Given the description of an element on the screen output the (x, y) to click on. 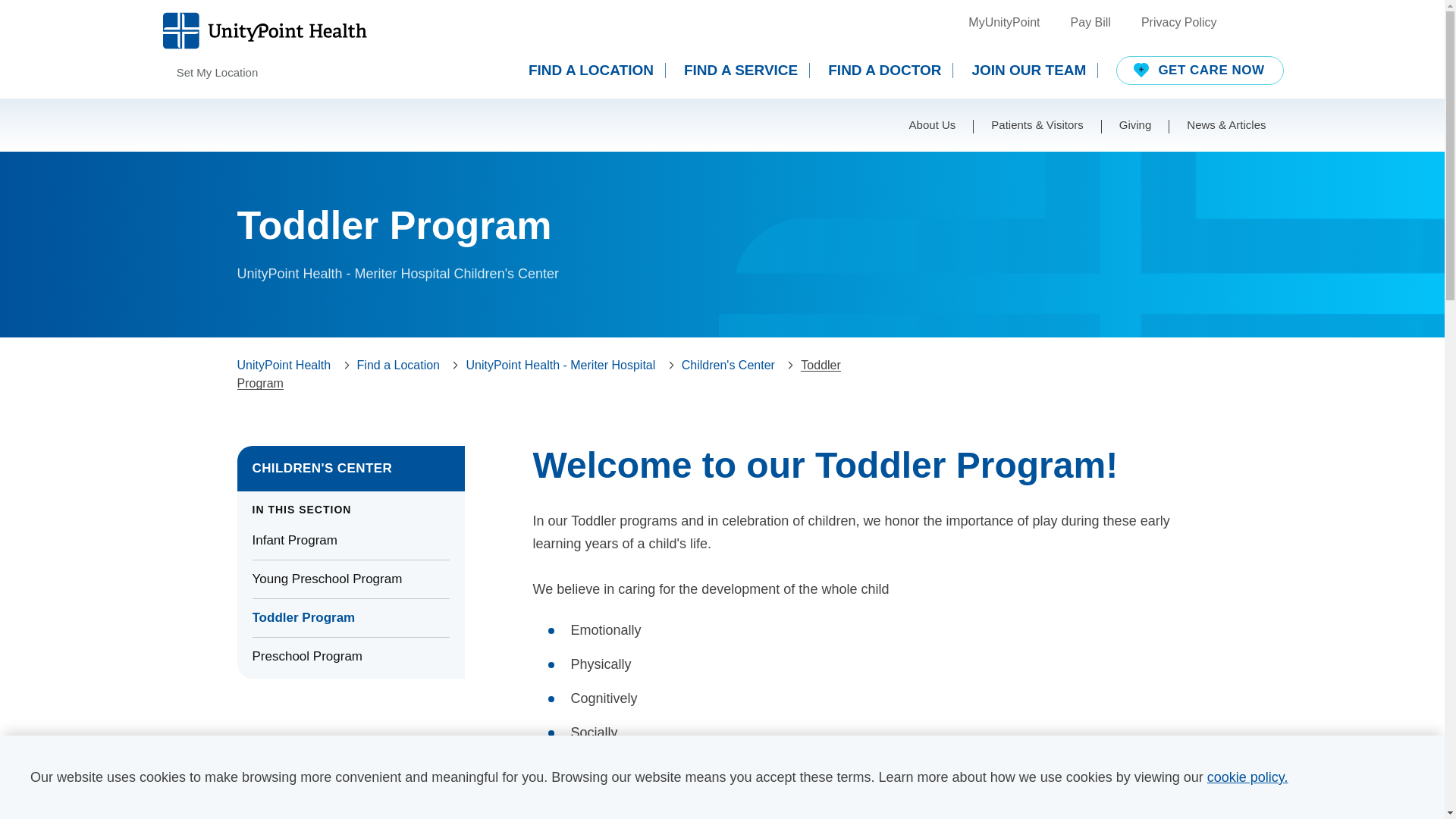
Children's Center (727, 364)
Pay Bill (1090, 22)
Preschool Program (349, 656)
GET CARE NOW (1199, 70)
About Us (932, 124)
Young Preschool Program (349, 579)
MyUnityPoint (1003, 22)
FIND A SERVICE (746, 69)
JOIN OUR TEAM (1034, 69)
UnityPoint Health - Meriter Hospital (560, 364)
FIND A LOCATION (596, 69)
Privacy Policy (1179, 22)
cookie policy. (1247, 776)
Find a Location (397, 364)
Set My Location (208, 72)
